Given the description of an element on the screen output the (x, y) to click on. 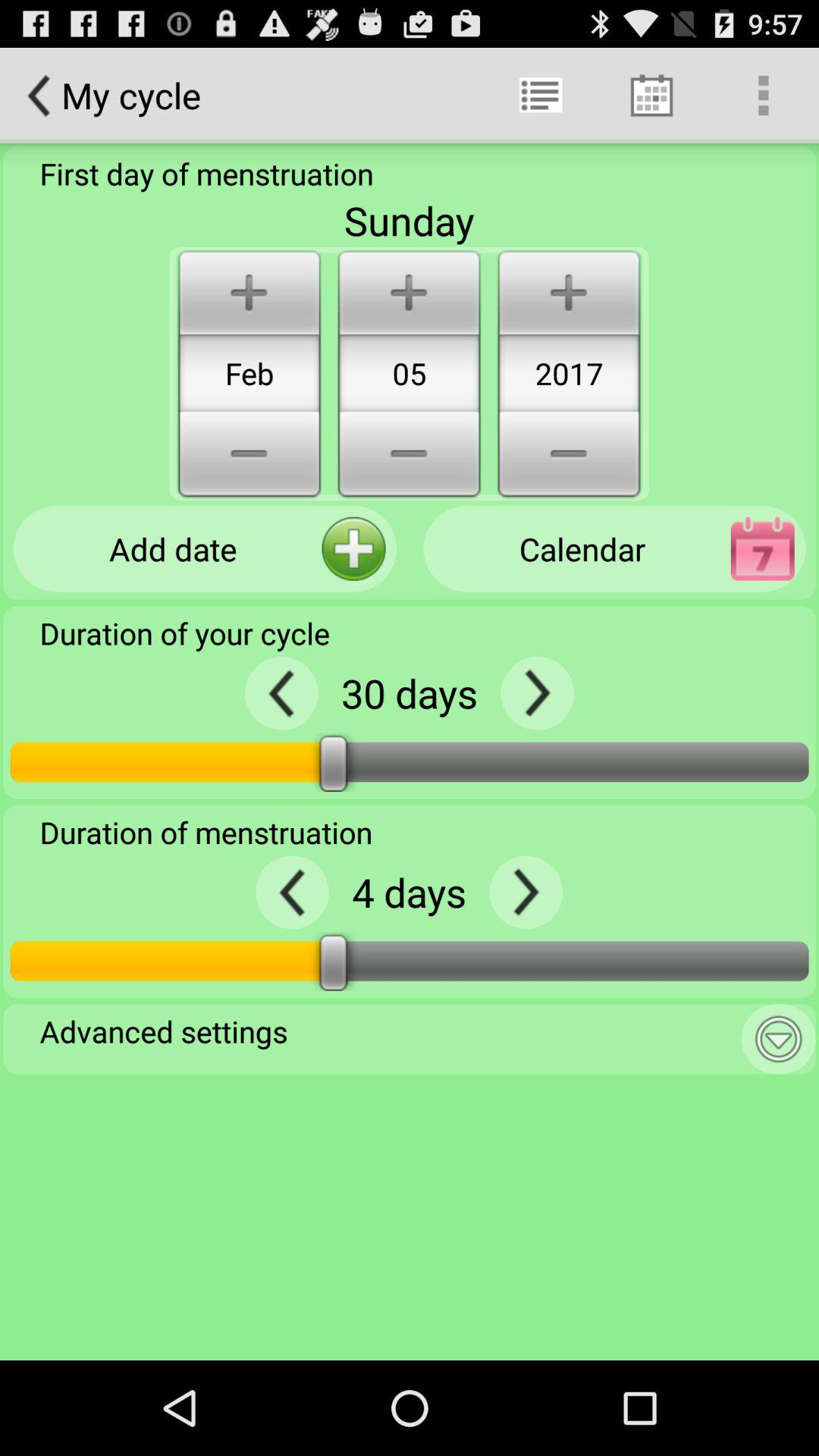
go to next (525, 892)
